Given the description of an element on the screen output the (x, y) to click on. 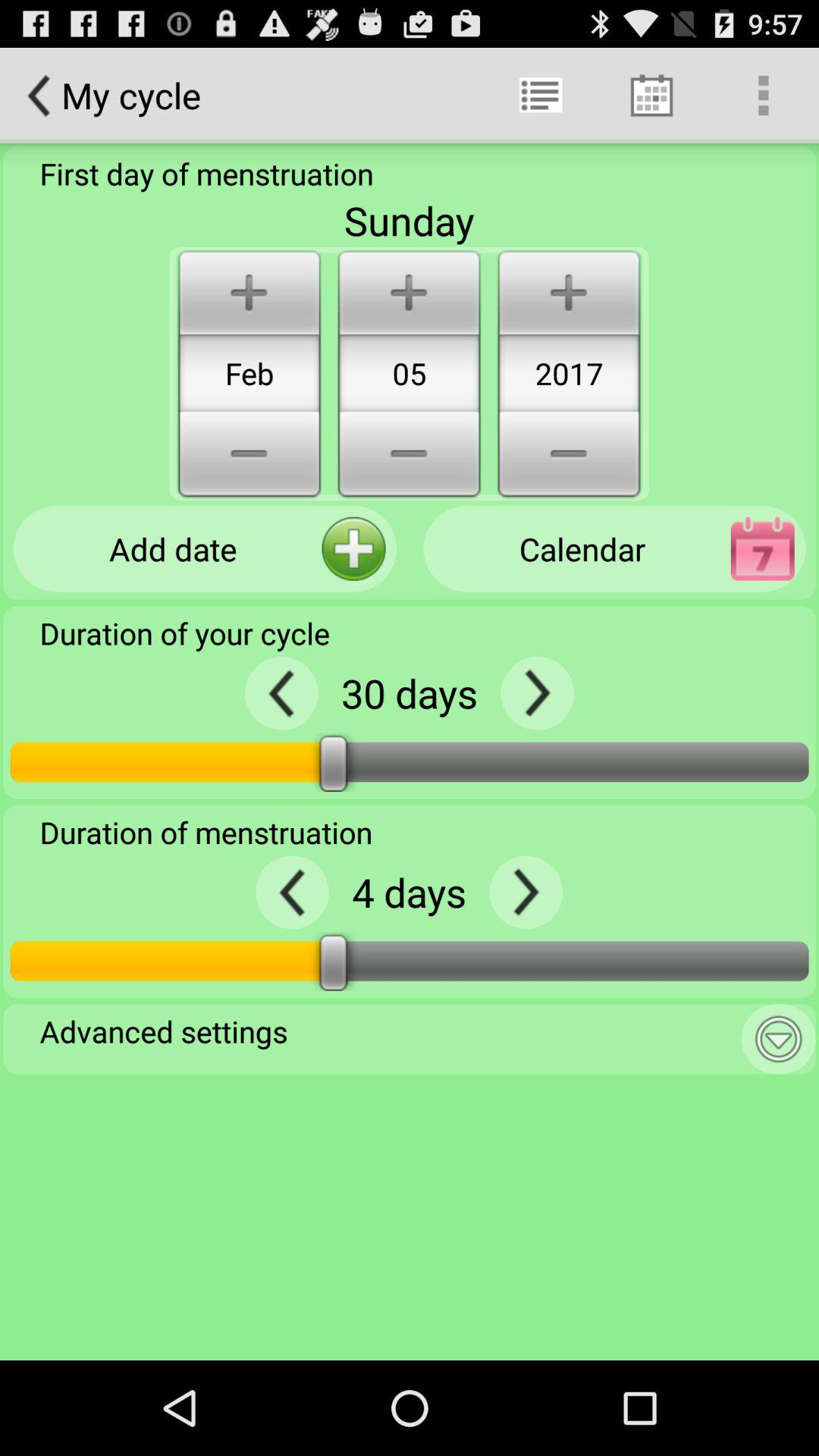
go to next (525, 892)
